Given the description of an element on the screen output the (x, y) to click on. 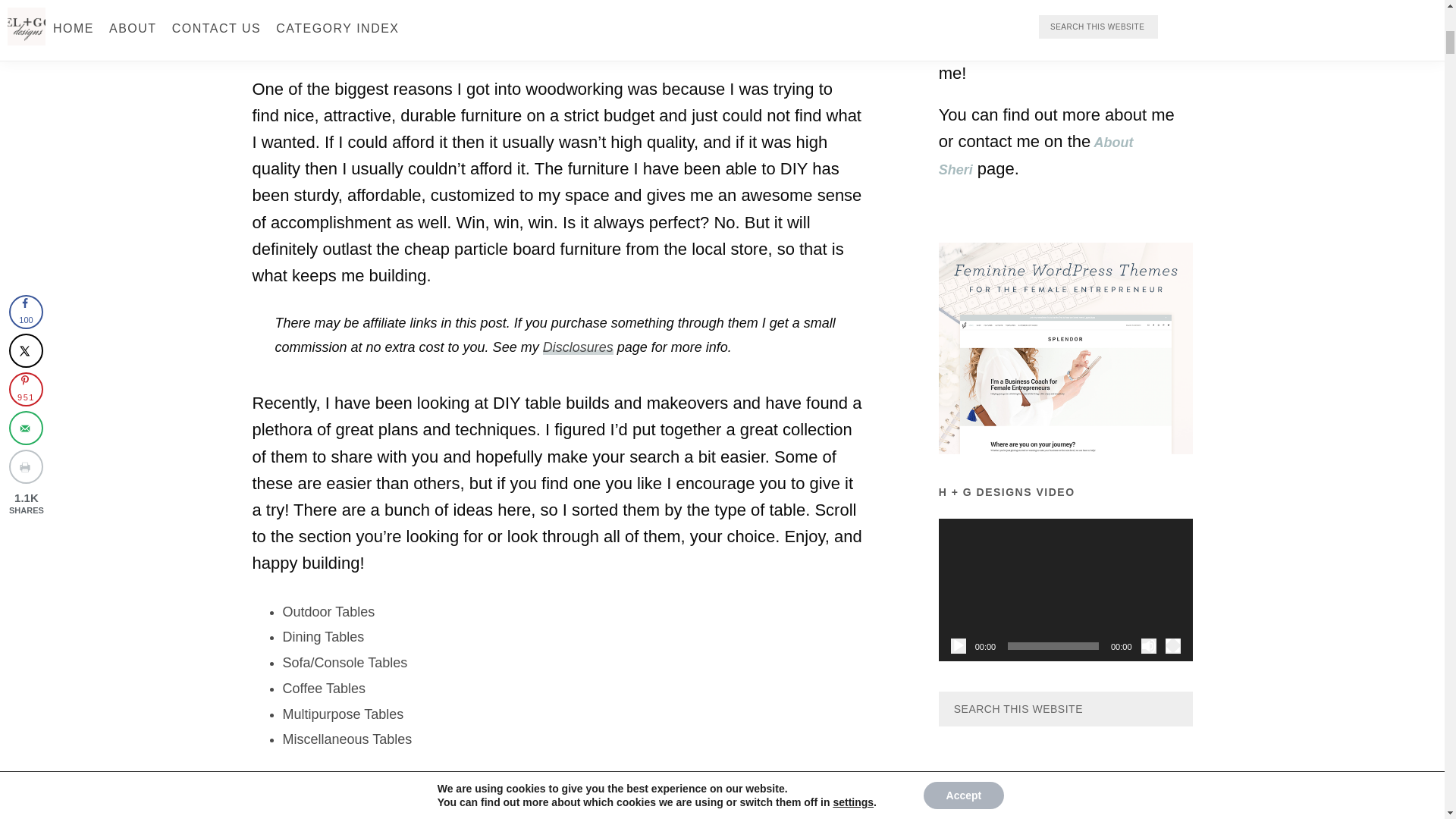
Mute (1148, 645)
Play (958, 645)
Fullscreen (1171, 645)
